Given the description of an element on the screen output the (x, y) to click on. 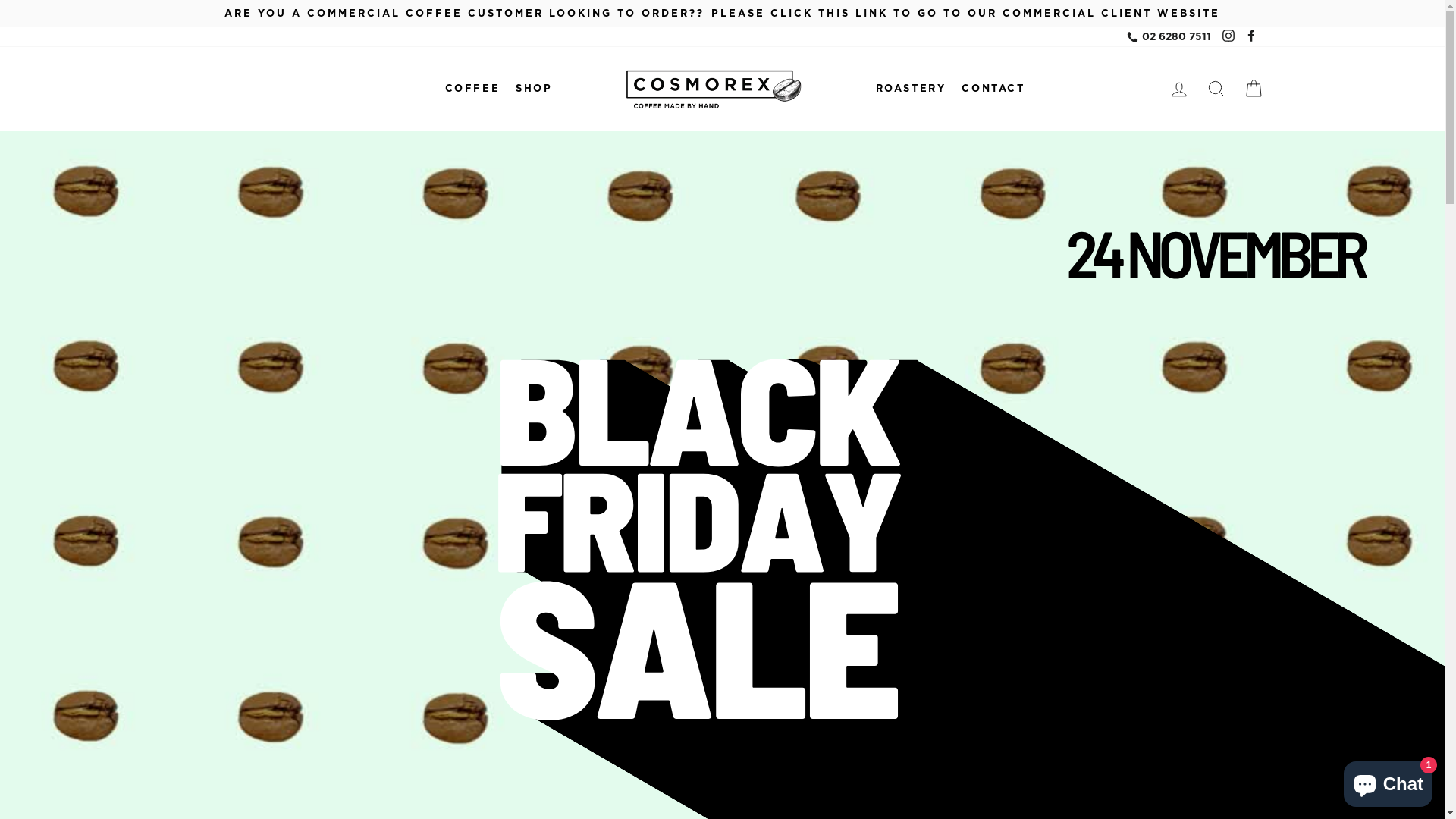
CART Element type: text (1252, 88)
SHOP Element type: text (533, 88)
Skip to content Element type: text (0, 0)
Shopify online store chat Element type: hover (1388, 780)
LOG IN Element type: text (1178, 88)
Instagram Element type: text (1227, 36)
ROASTERY Element type: text (910, 88)
CONTACT Element type: text (992, 88)
Facebook Element type: text (1250, 36)
SEARCH Element type: text (1216, 88)
COFFEE Element type: text (472, 88)
